Given the description of an element on the screen output the (x, y) to click on. 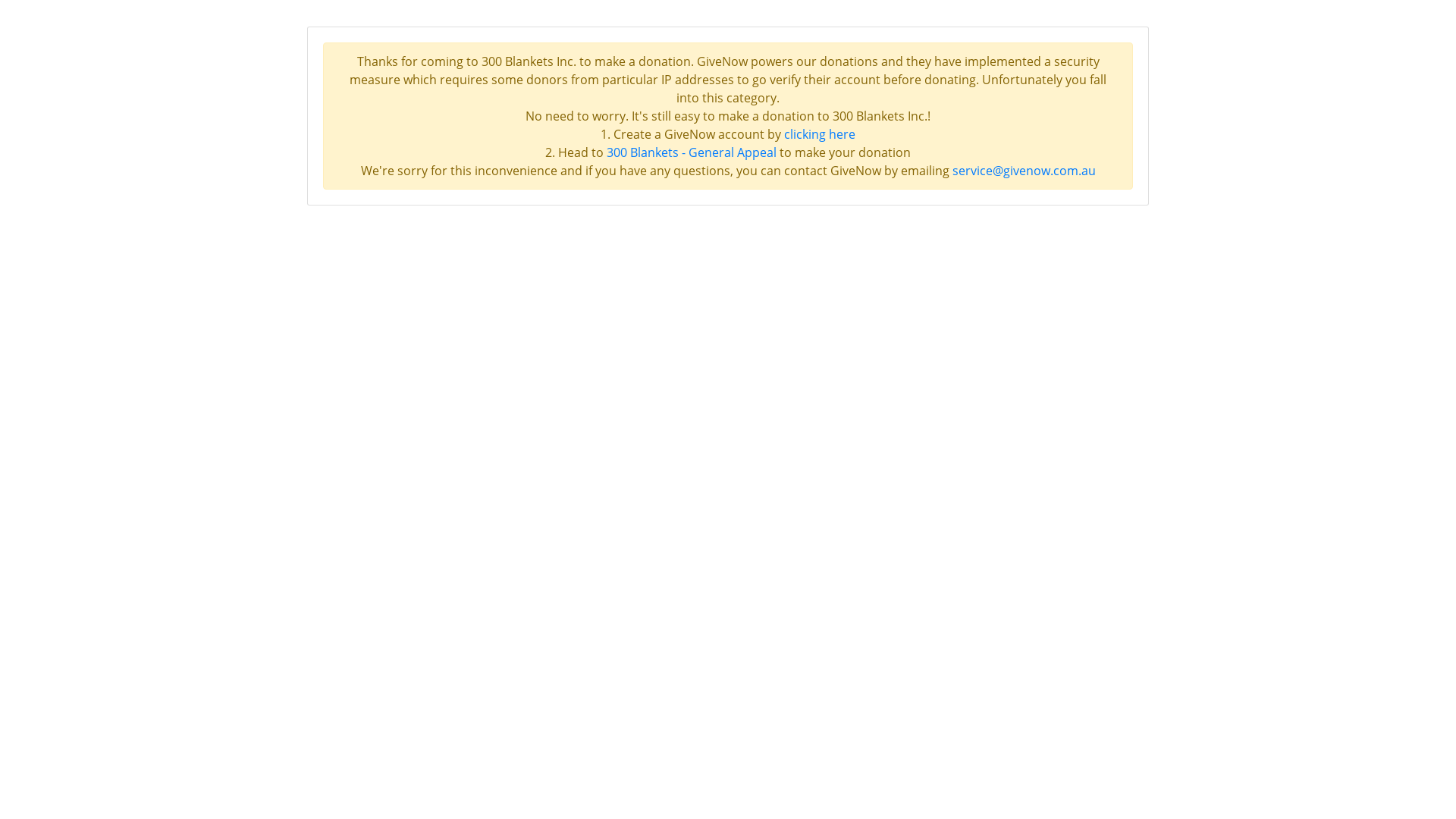
service@givenow.com.au Element type: text (1023, 170)
300 Blankets - General Appeal Element type: text (691, 152)
clicking here Element type: text (819, 133)
